Given the description of an element on the screen output the (x, y) to click on. 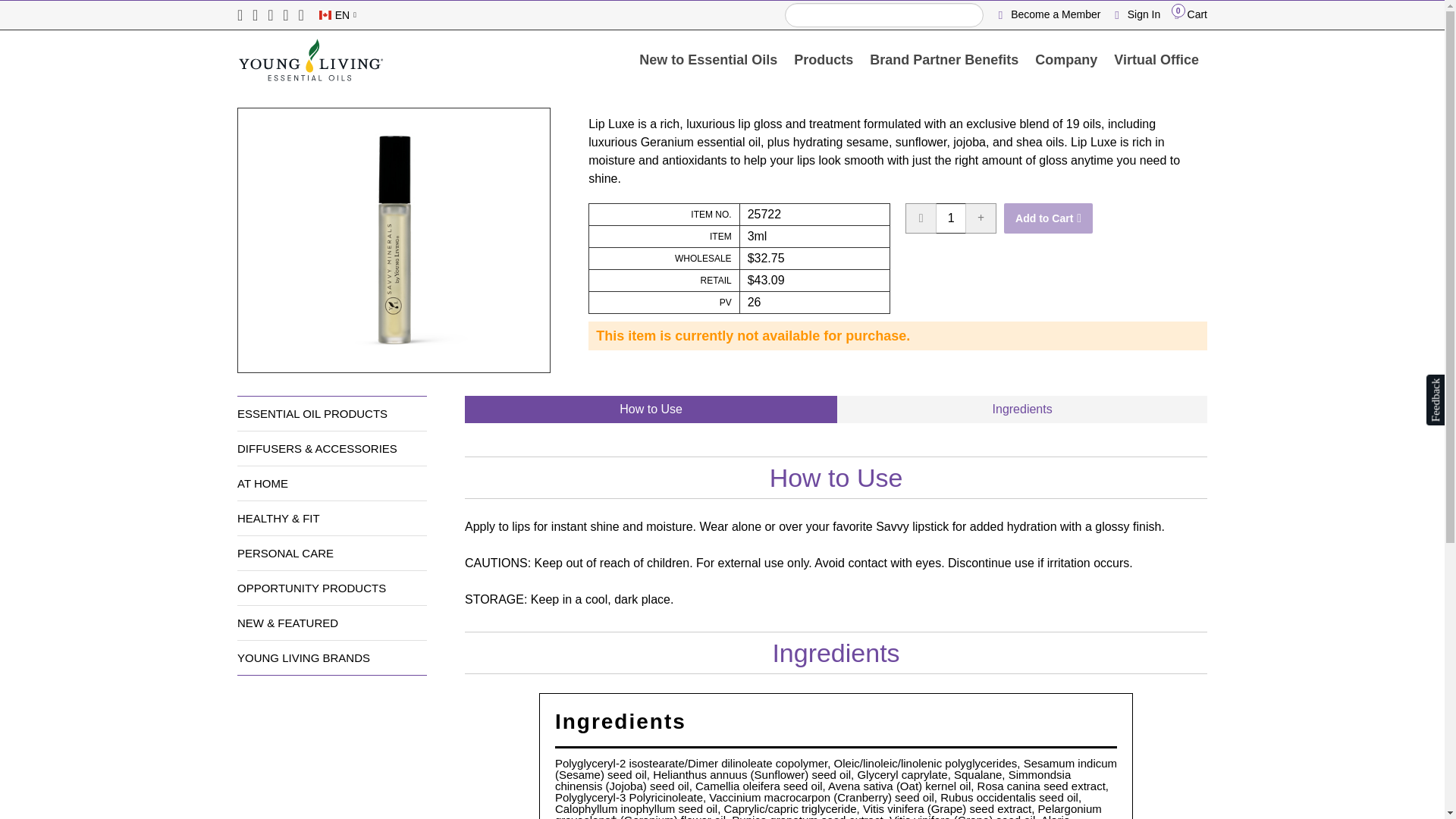
1 (1185, 14)
New to Essential Oils (951, 218)
Sign In (708, 59)
Become a Member (1133, 14)
Products (1050, 14)
